Given the description of an element on the screen output the (x, y) to click on. 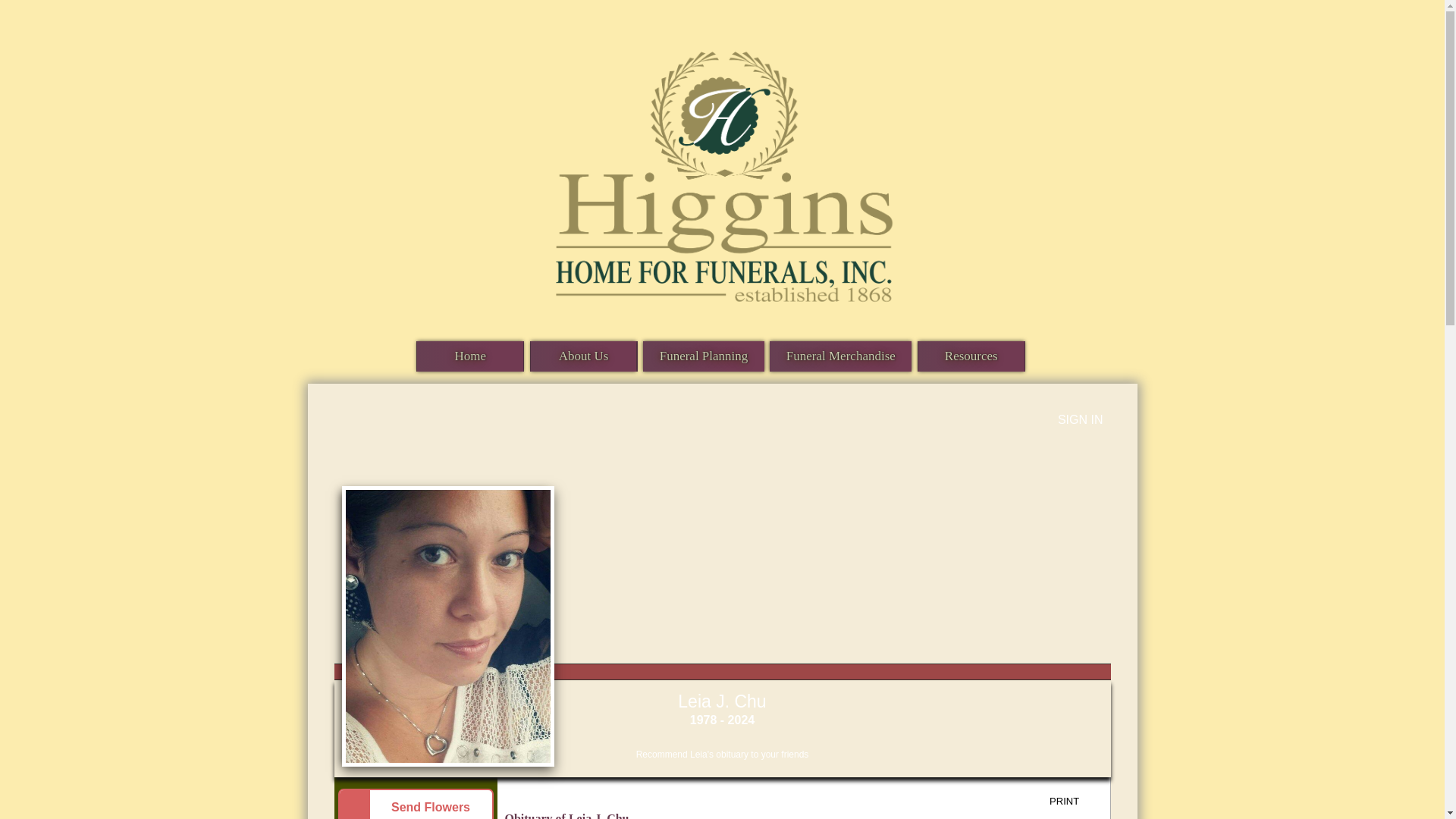
Send Flowers (415, 803)
Home (469, 356)
Resources (971, 356)
PRINT (1075, 801)
Print (1075, 801)
SIGN IN (1080, 419)
About Us (584, 356)
Funeral Merchandise (840, 356)
Funeral Planning (703, 356)
